Given the description of an element on the screen output the (x, y) to click on. 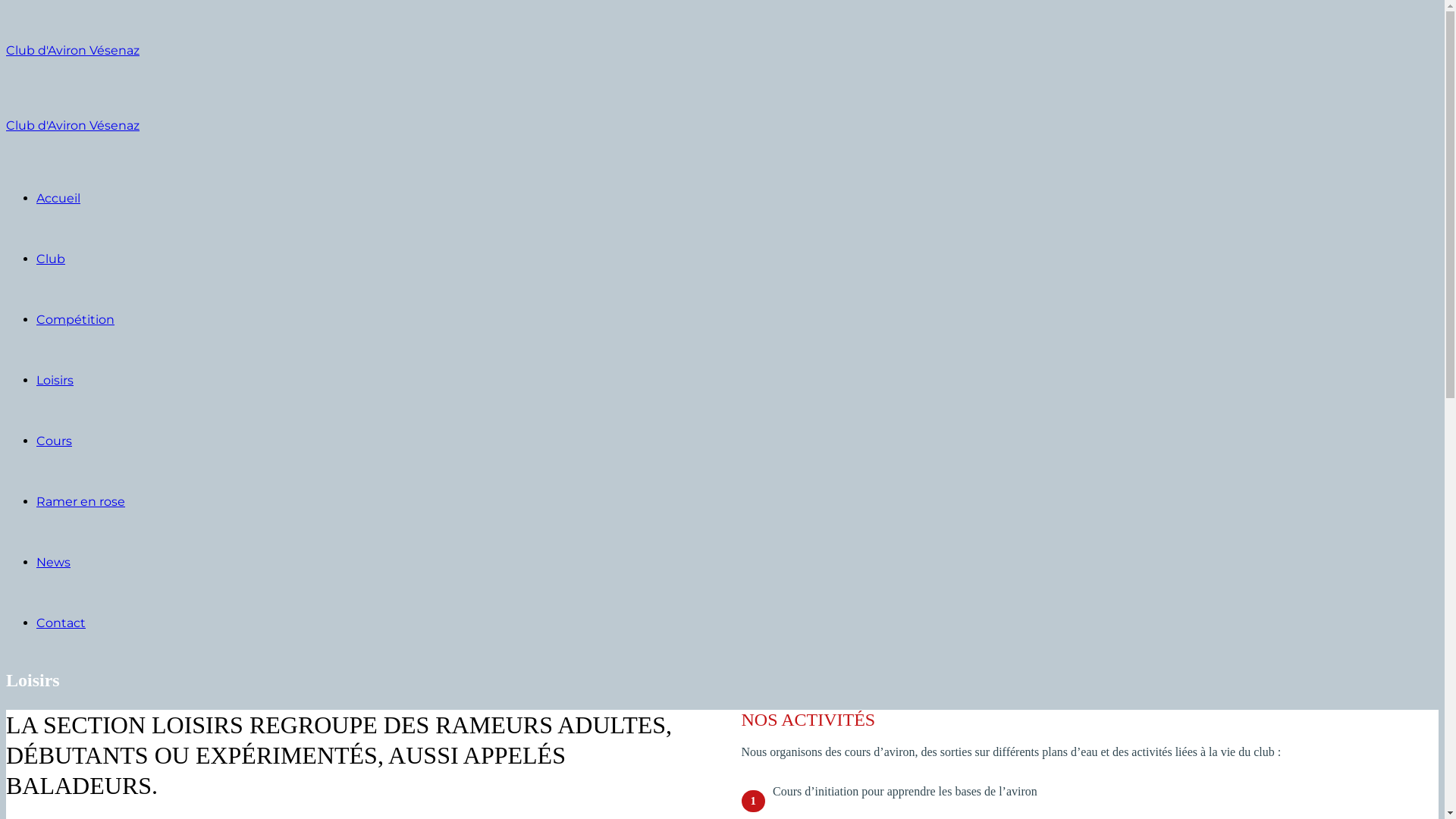
Club Element type: text (50, 258)
Loisirs Element type: text (54, 380)
Accueil Element type: text (58, 198)
Contact Element type: text (60, 622)
Cours Element type: text (54, 440)
News Element type: text (53, 562)
Ramer en rose Element type: text (80, 501)
